Given the description of an element on the screen output the (x, y) to click on. 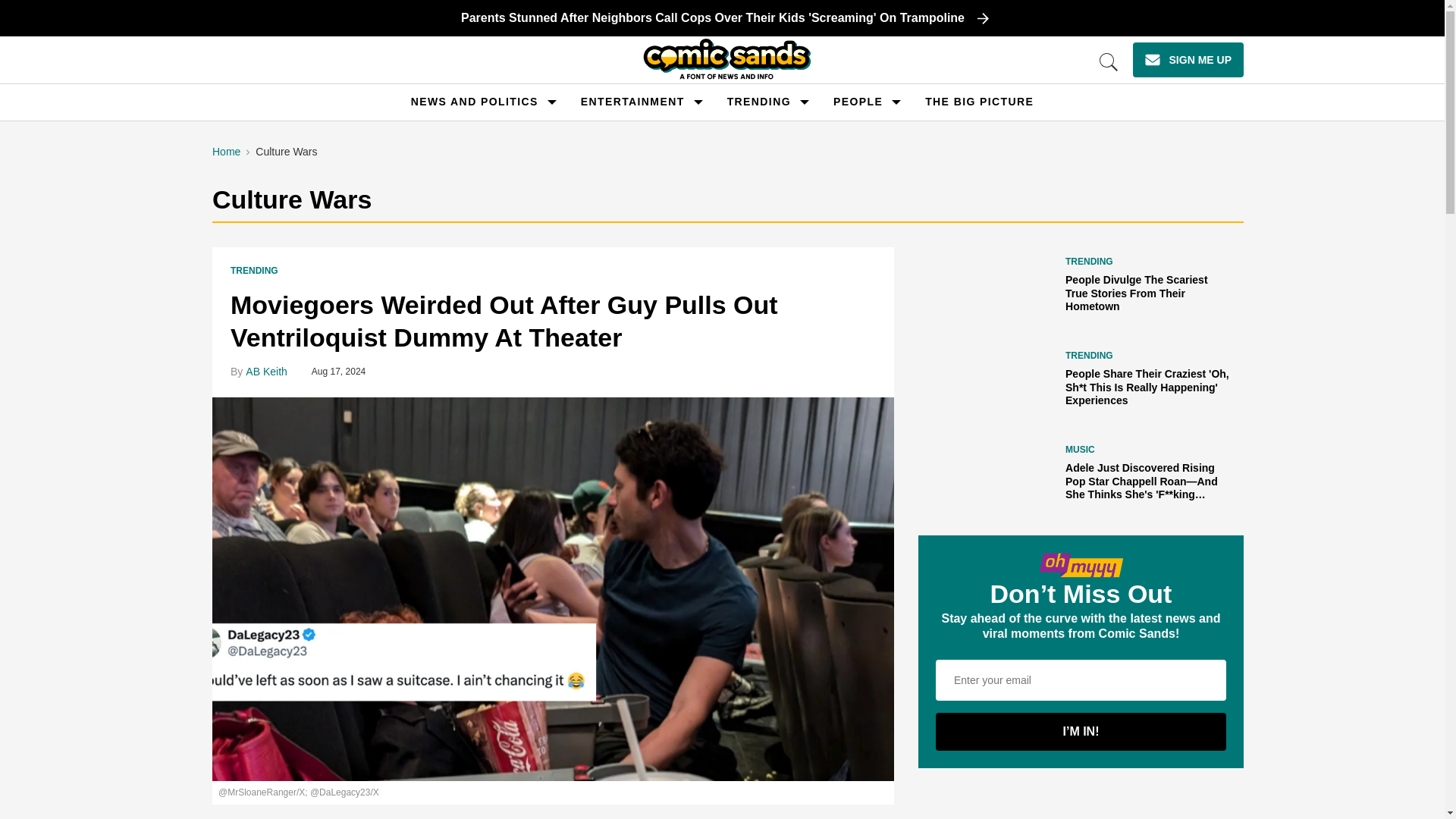
Open Search (1108, 61)
Open Search (1108, 61)
NEWS AND POLITICS (474, 101)
SIGN ME UP (1187, 59)
